Given the description of an element on the screen output the (x, y) to click on. 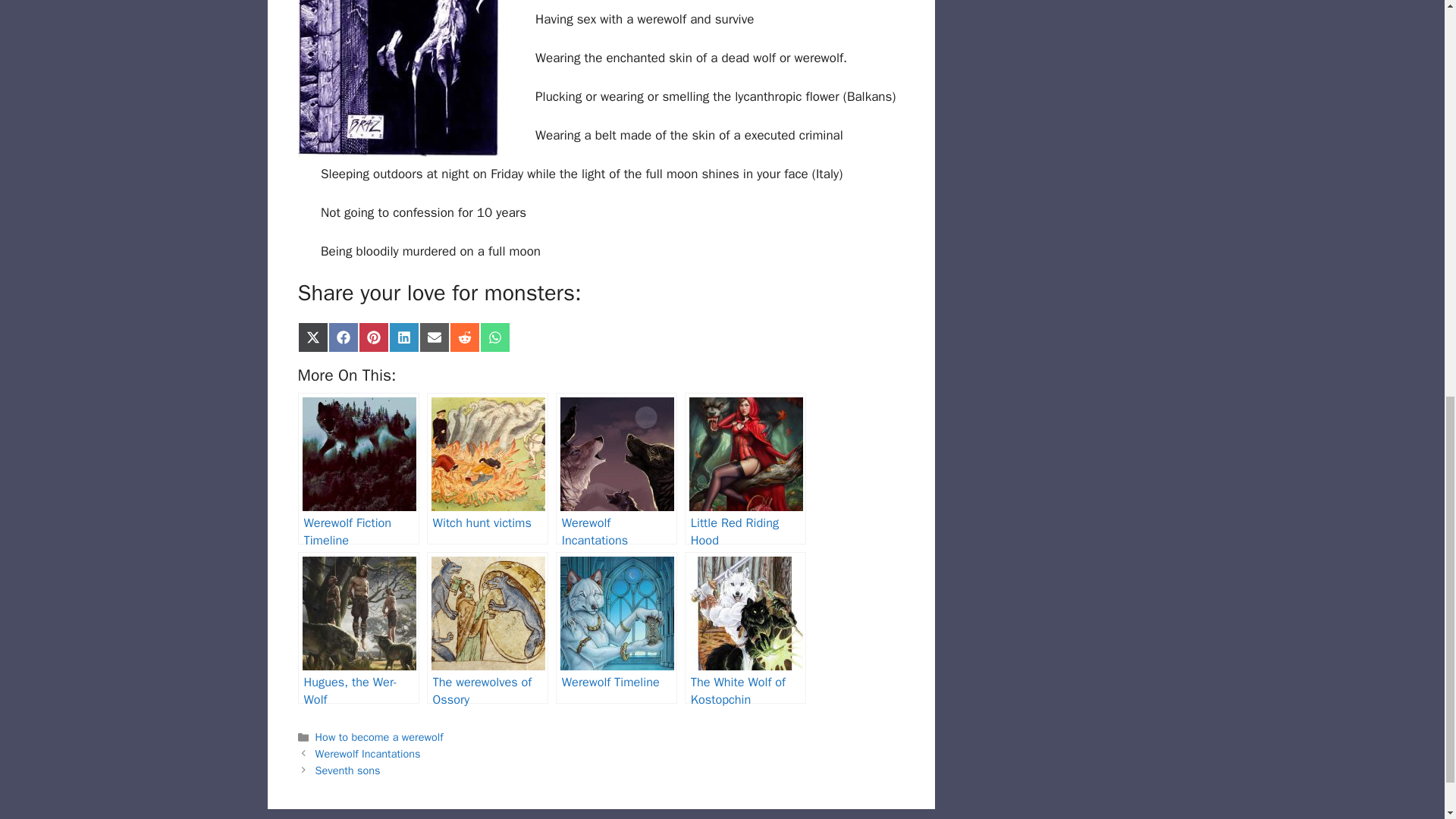
Share on Reddit (463, 337)
Share on Email (433, 337)
Share on Pinterest (373, 337)
Share on LinkedIn (403, 337)
Share on WhatsApp (494, 337)
Share on Facebook (342, 337)
